Given the description of an element on the screen output the (x, y) to click on. 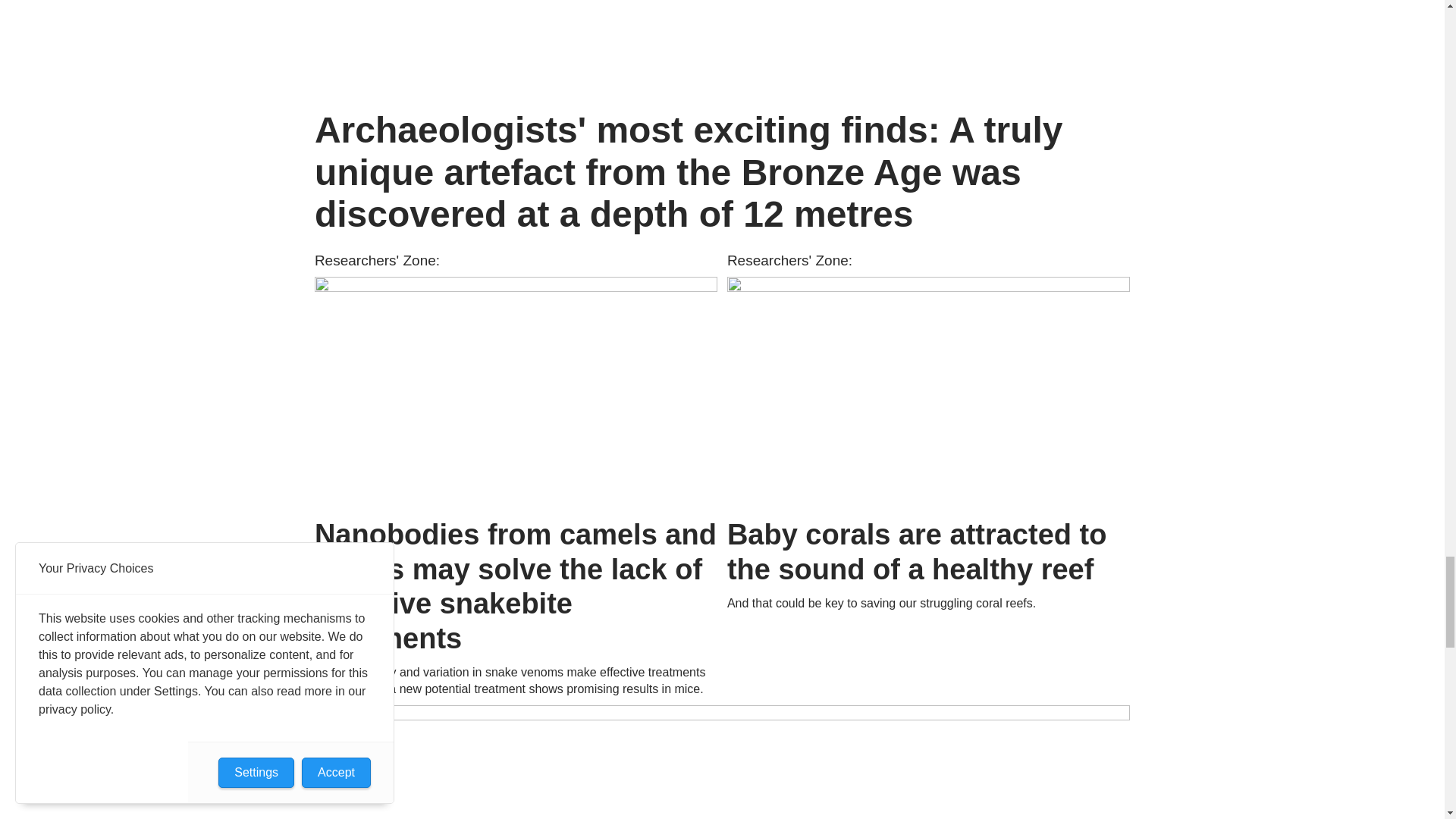
Baby corals are attracted to the sound of a healthy reef (927, 391)
